Given the description of an element on the screen output the (x, y) to click on. 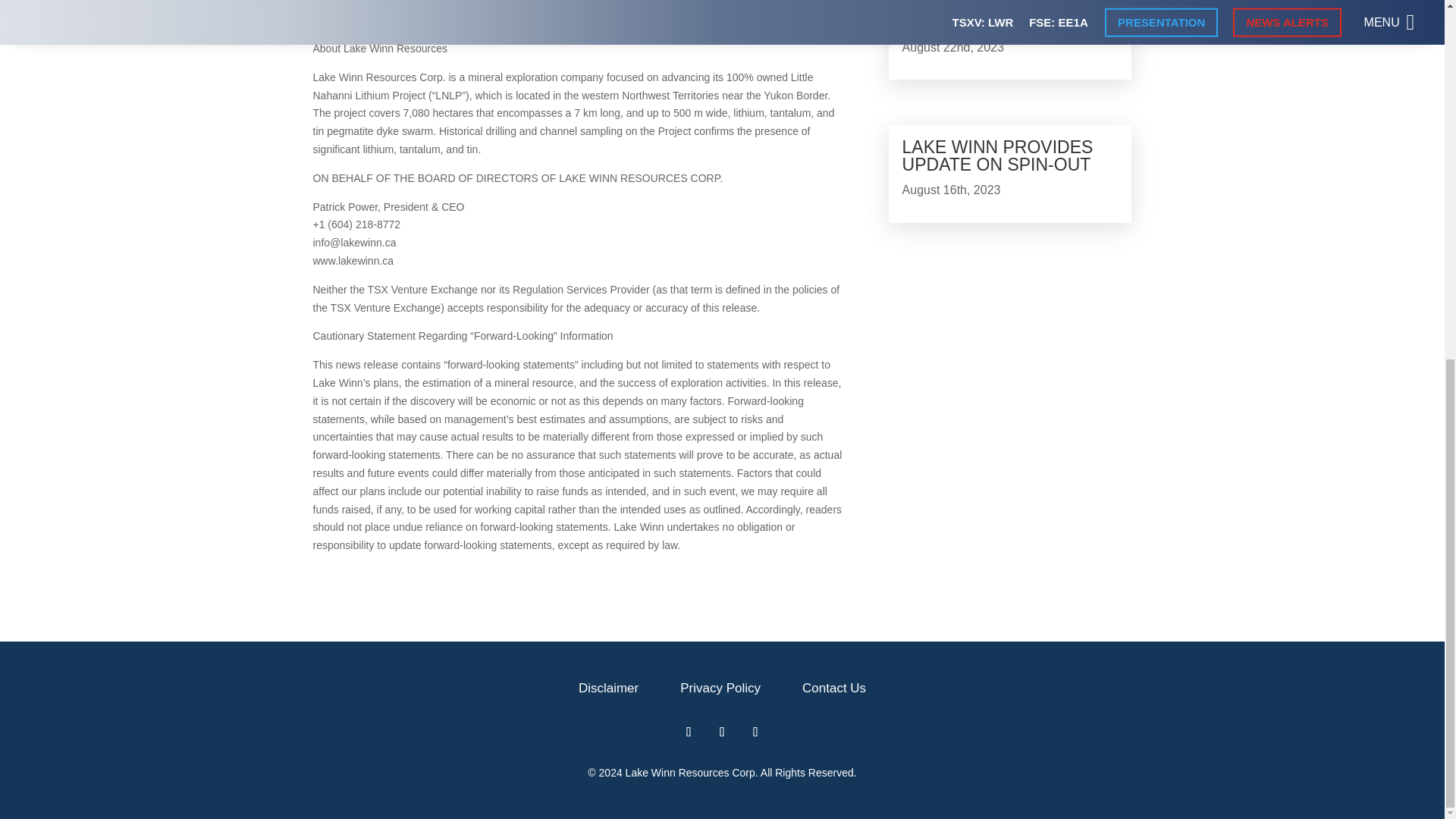
Follow (721, 731)
LAKE WINN PROVIDES UPDATE ON SPIN-OUT FINANCING (997, 15)
Follow on LinkedIn (754, 731)
Follow on Facebook (688, 731)
Follow (688, 731)
LAKE WINN PROVIDES UPDATE ON SPIN-OUT (997, 155)
Disclaimer (608, 687)
Contact Us (833, 687)
Privacy Policy (719, 687)
Follow on X (721, 731)
